Given the description of an element on the screen output the (x, y) to click on. 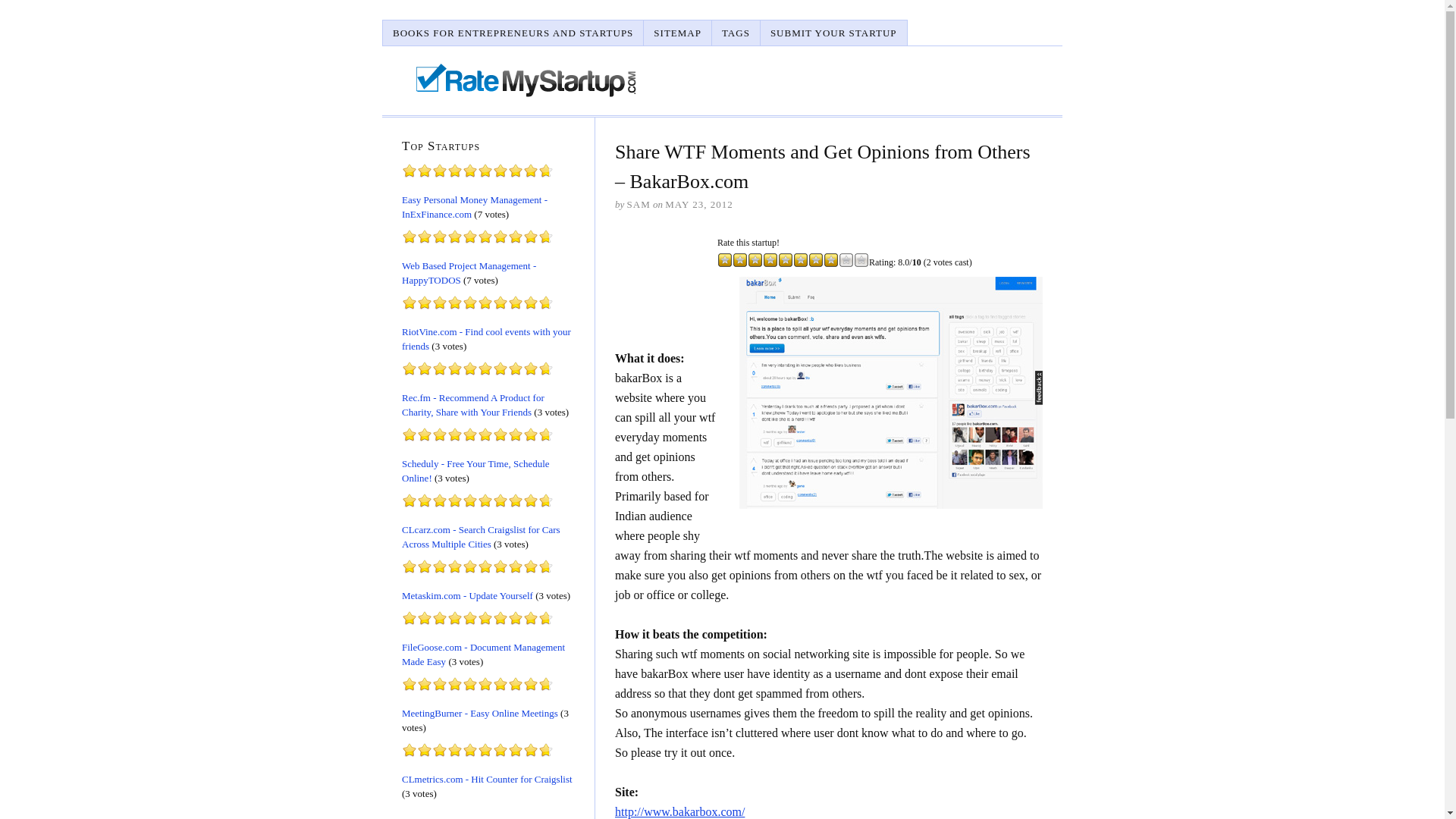
BOOKS FOR ENTREPRENEURS AND STARTUPS (512, 32)
Scheduly - Free Your Time, Schedule Online! (475, 470)
SUBMIT YOUR STARTUP (833, 32)
Metaskim.com - Update Yourself (466, 595)
click to return home (527, 79)
Advertisement (662, 286)
MeetingBurner - Easy Online Meetings (479, 712)
2012-05-23 (698, 204)
RiotVine.com - Find cool events with your friends (485, 338)
SITEMAP (677, 32)
Easy Personal Money Management - InExFinance.com (474, 207)
TAGS (735, 32)
BakarBox.com (890, 391)
